Given the description of an element on the screen output the (x, y) to click on. 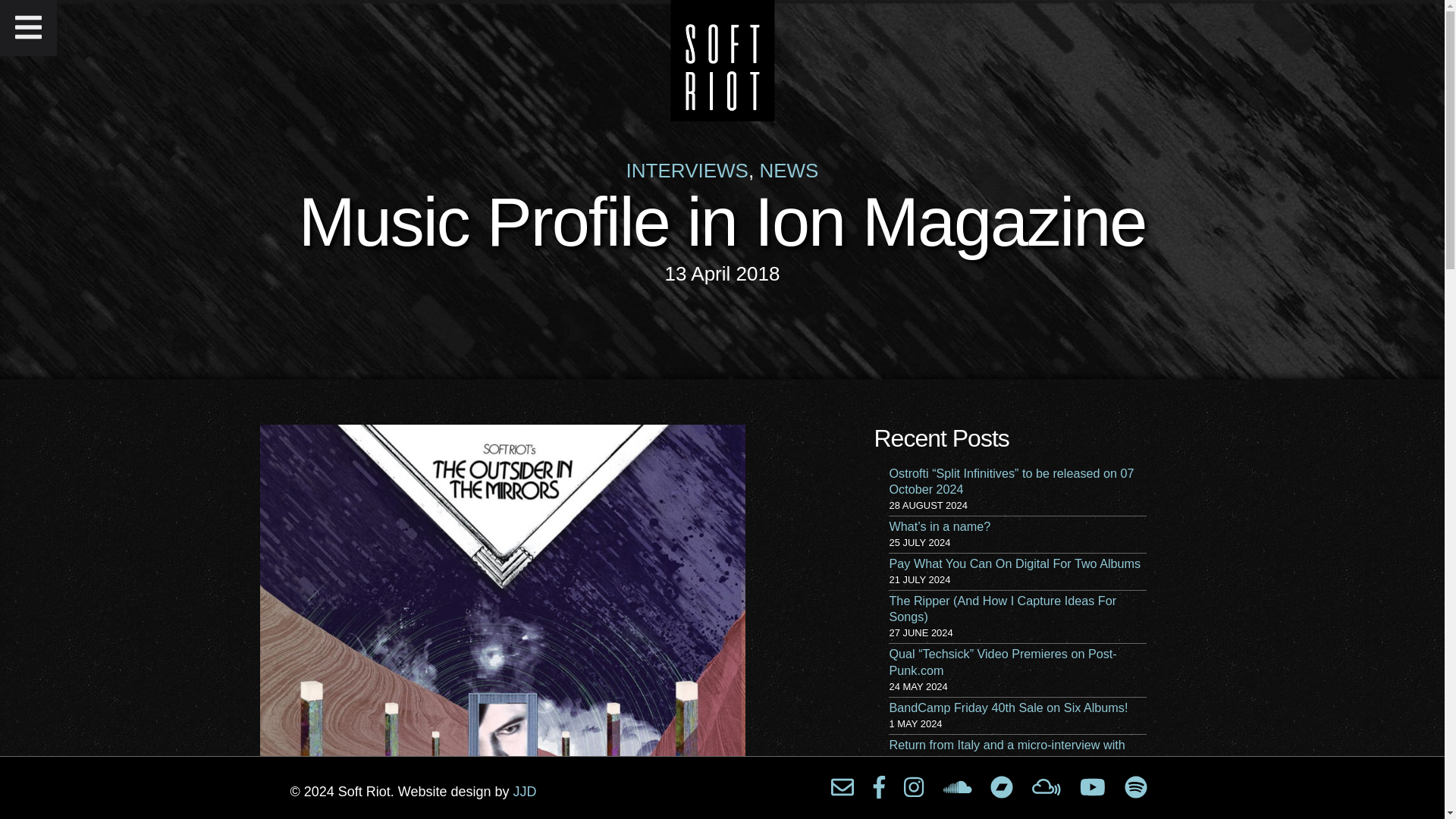
Pay What You Can On Digital For Two Albums (1014, 563)
Return from Italy and a micro-interview with LupOnAir (1006, 752)
Club Visuals for Waveteef 2024 Festival (996, 797)
INTERVIEWS (687, 169)
NEWS (788, 169)
BandCamp Friday 40th Sale on Six Albums! (1007, 707)
